Given the description of an element on the screen output the (x, y) to click on. 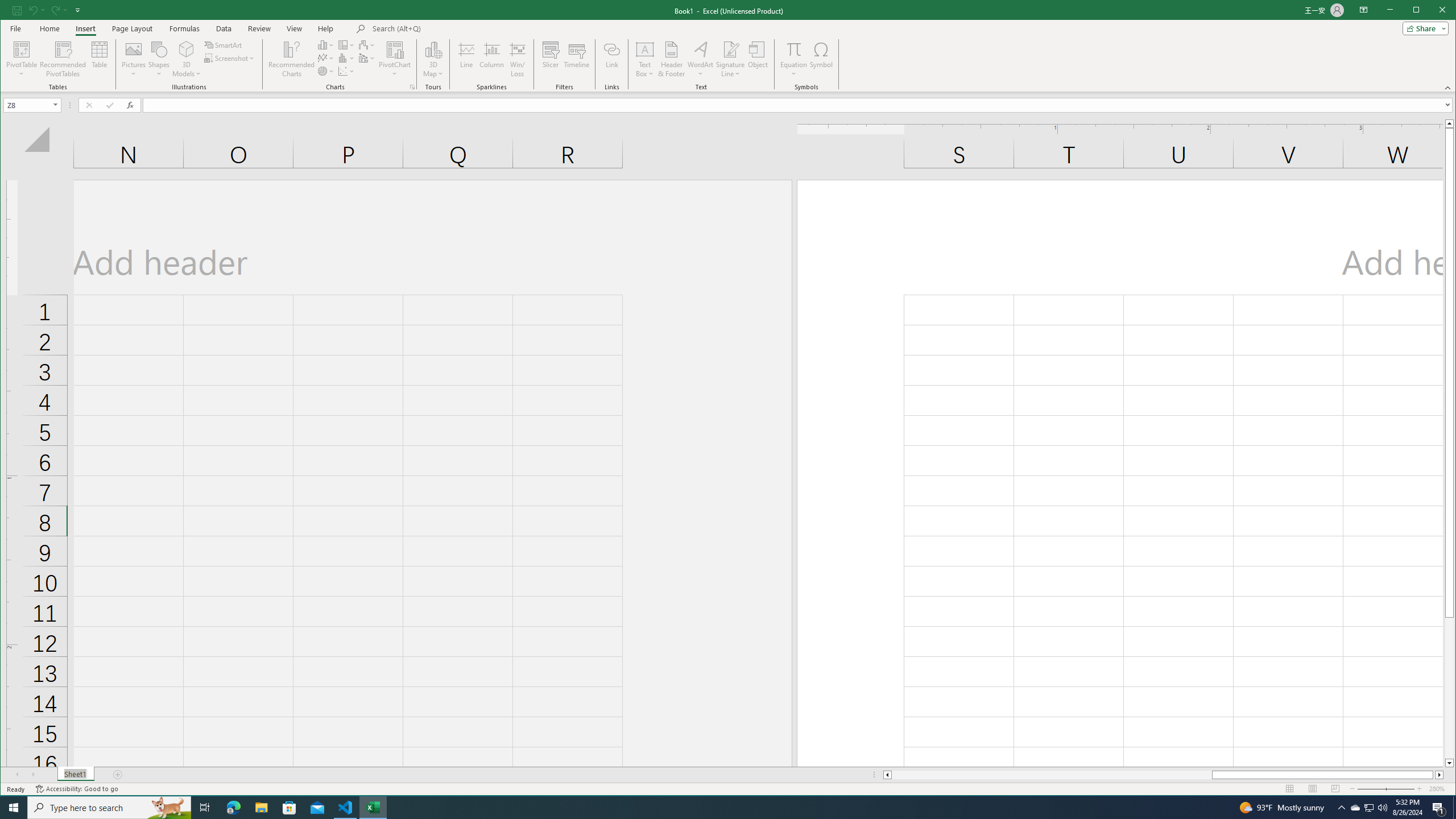
Recommended PivotTables (63, 59)
Microsoft Edge (233, 807)
Visual Studio Code - 1 running window (1368, 807)
Signature Line (345, 807)
Screenshot (729, 59)
Excel - 1 running window (229, 57)
